Given the description of an element on the screen output the (x, y) to click on. 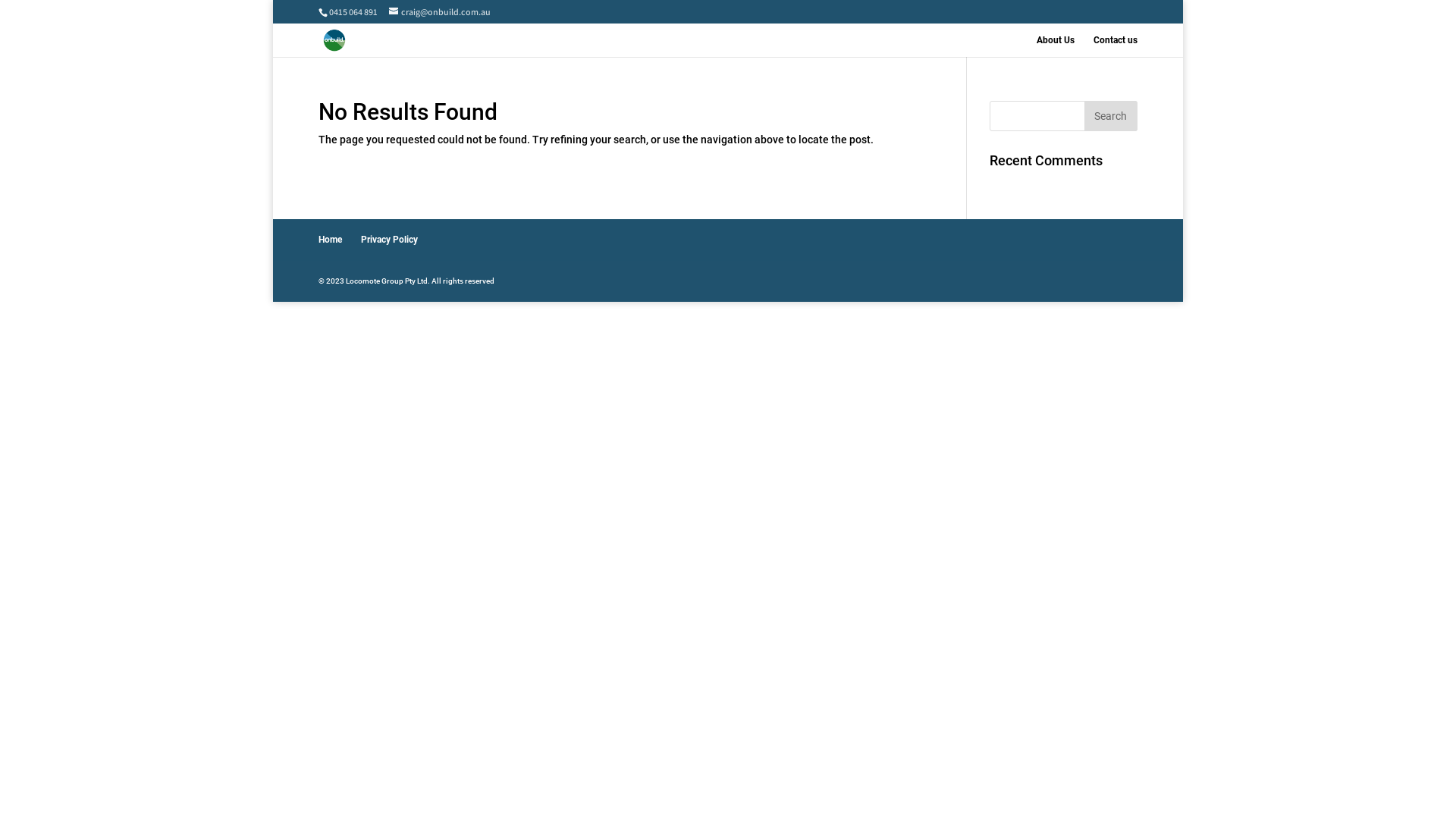
About Us Element type: text (1055, 45)
Contact us Element type: text (1115, 45)
Privacy Policy Element type: text (388, 239)
Home Element type: text (330, 239)
Search Element type: text (1110, 115)
craig@onbuild.com.au Element type: text (439, 11)
